Given the description of an element on the screen output the (x, y) to click on. 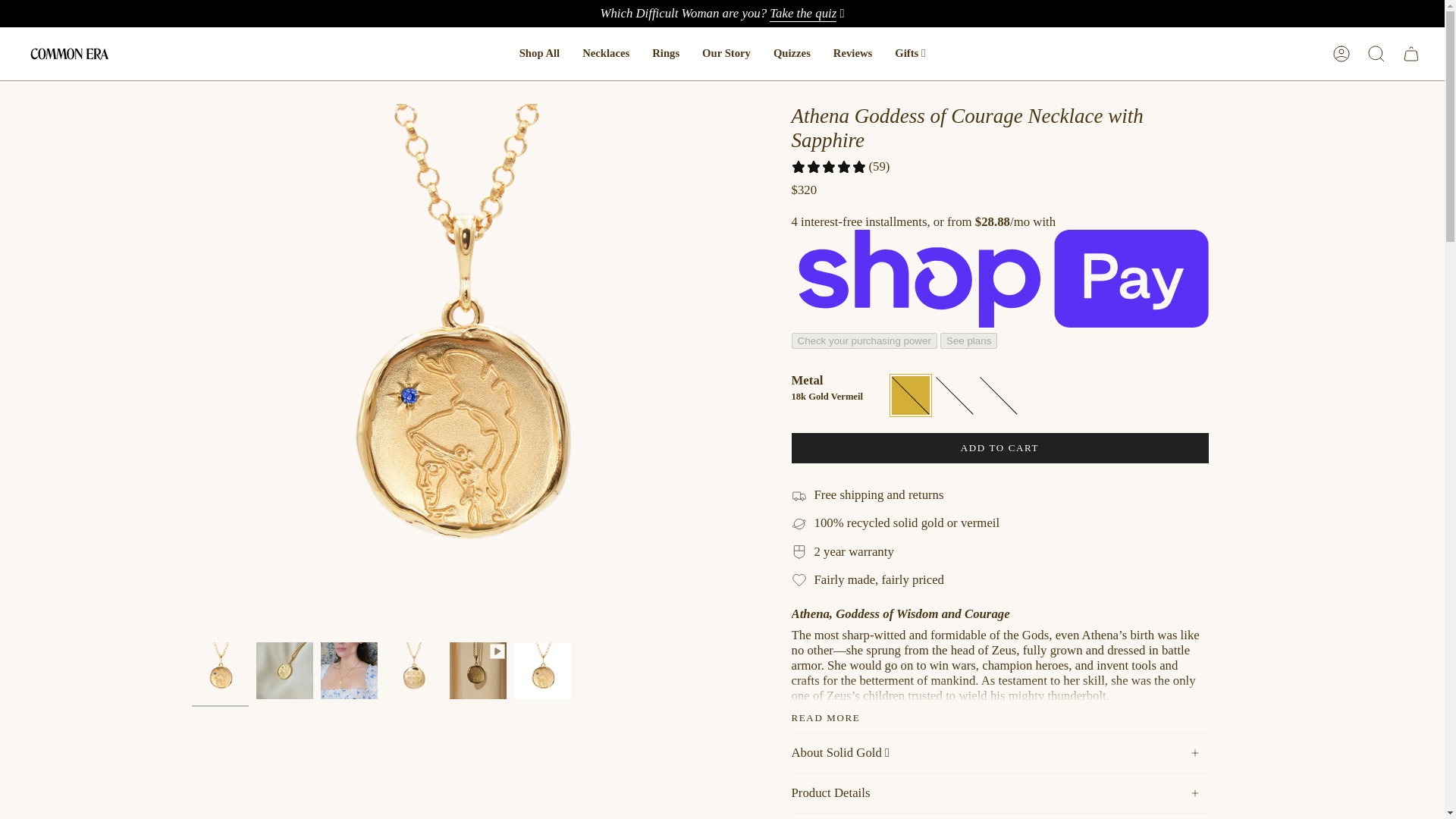
Search (1375, 53)
Take the quiz (802, 14)
Our Story (725, 53)
My Account (1340, 53)
Cart (1410, 53)
Reviews (852, 53)
Shop All (539, 53)
Quizzes (791, 53)
The Difficult Woman Quiz (802, 14)
Necklaces (605, 53)
Rings (665, 53)
